Given the description of an element on the screen output the (x, y) to click on. 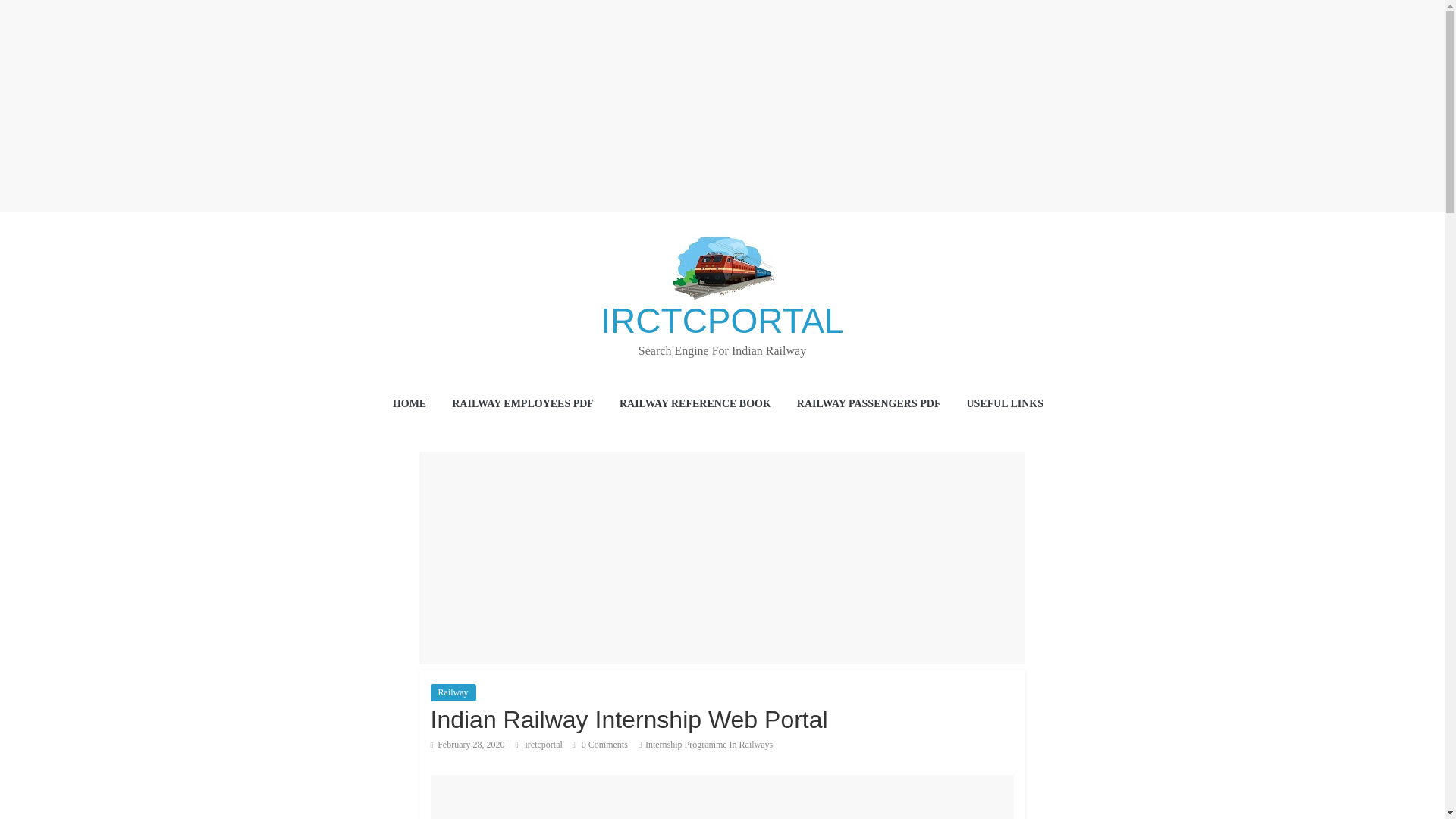
IRCTCPORTAL (721, 320)
Railway (453, 692)
Advertisement (722, 796)
4:00 am (467, 744)
USEFUL LINKS (1008, 404)
Internship Programme In Railways (709, 744)
Advertisement (722, 558)
RAILWAY PASSENGERS PDF (868, 404)
irctcportal (544, 744)
HOME (409, 404)
